Given the description of an element on the screen output the (x, y) to click on. 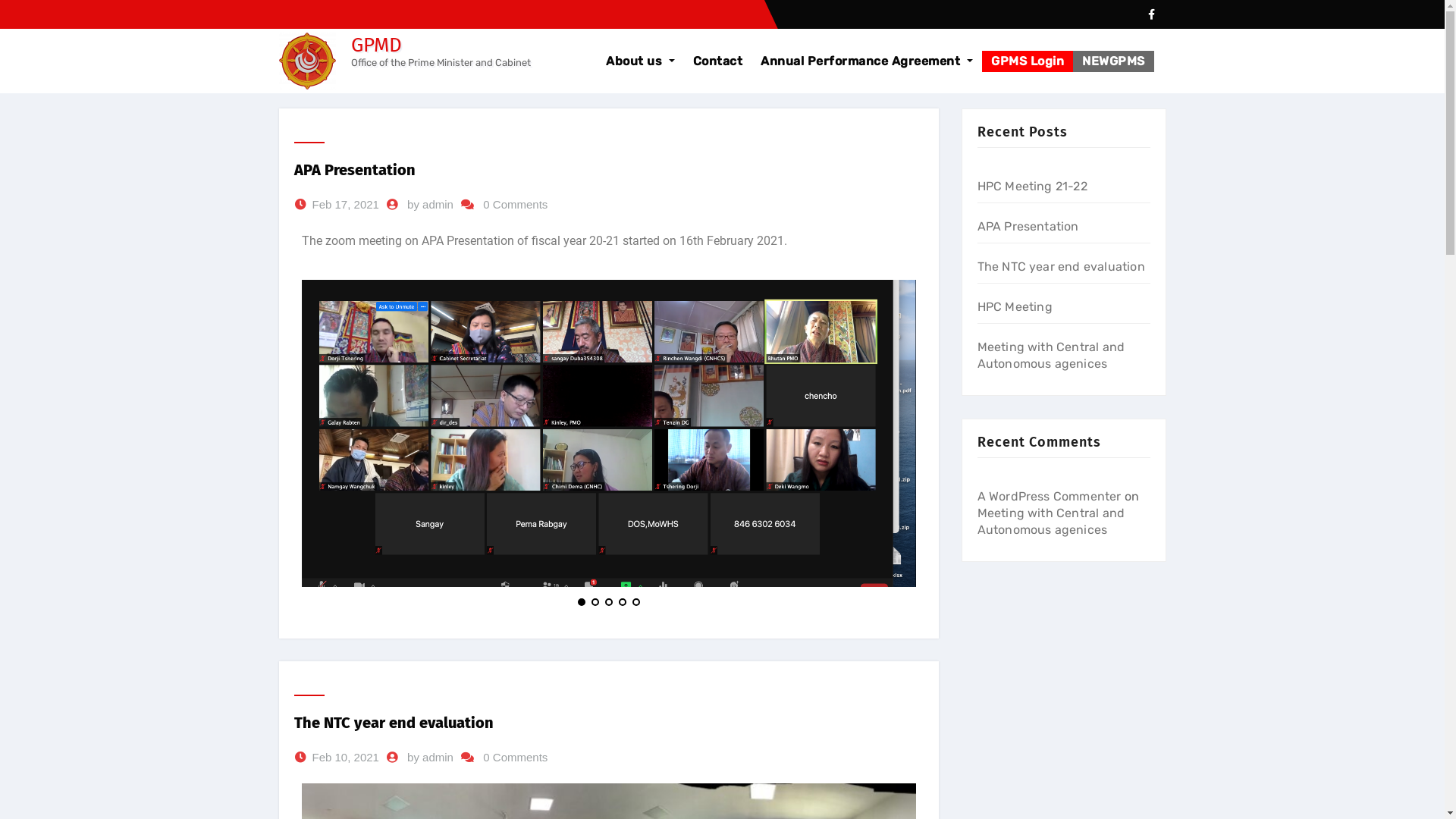
APA Presentation Element type: text (354, 169)
HPC Meeting Element type: text (1013, 306)
About us Element type: text (640, 61)
The NTC year end evaluation Element type: text (1060, 266)
GPMD Element type: text (375, 34)
APA Presentation Element type: text (1027, 226)
Meeting with Central and Autonomous agenices Element type: text (1050, 354)
Contact Element type: text (718, 61)
Annual Performance Agreement Element type: text (866, 61)
A WordPress Commenter Element type: text (1048, 496)
Feb 10, 2021 Element type: text (345, 757)
The NTC year end evaluation Element type: text (393, 722)
Meeting with Central and Autonomous agenices Element type: text (1050, 520)
GPMS Login Element type: text (1027, 61)
0 Comments Element type: text (515, 204)
0 Comments Element type: text (515, 757)
Feb 17, 2021 Element type: text (345, 204)
HPC Meeting 21-22 Element type: text (1031, 185)
by admin Element type: text (430, 204)
NEWGPMS Element type: text (1113, 61)
by admin Element type: text (430, 757)
